Given the description of an element on the screen output the (x, y) to click on. 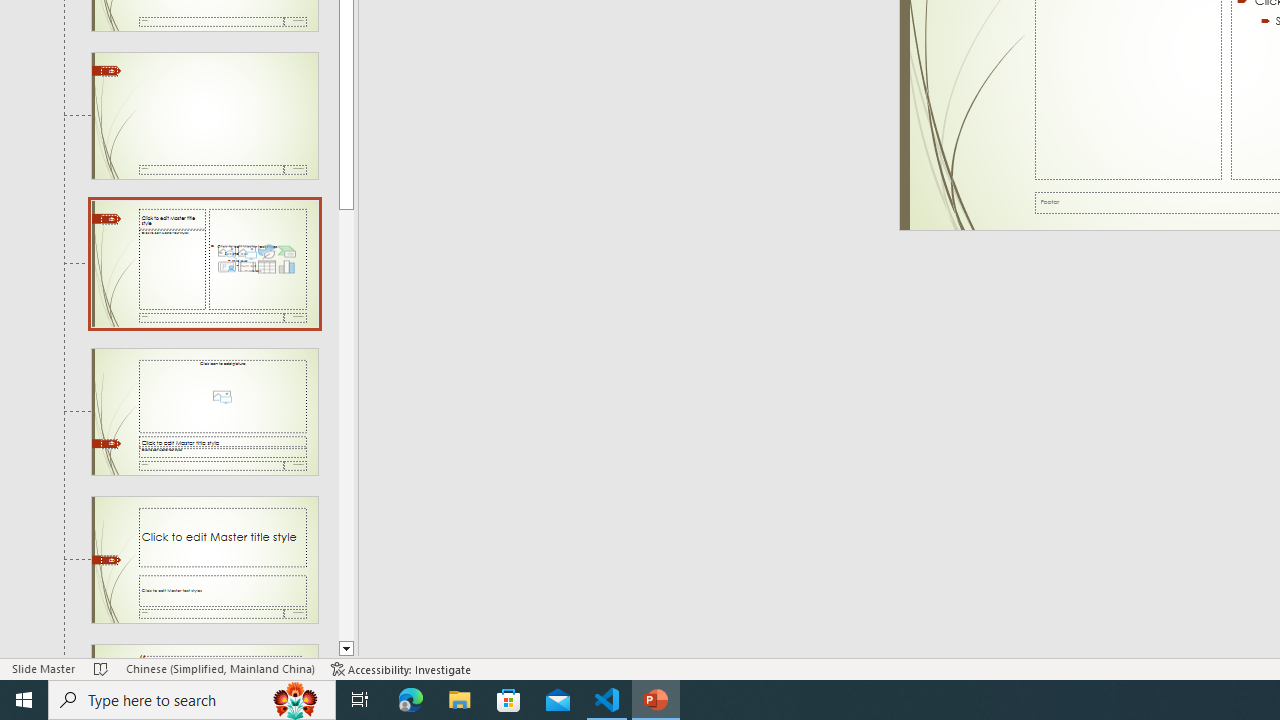
Slide Content with Caption Layout: used by no slides (204, 263)
Slide Blank Layout: used by no slides (204, 116)
Slide Quote with Caption Layout: used by no slides (204, 651)
Slide Picture with Caption Layout: used by no slides (204, 412)
Page down (345, 425)
Slide Title and Caption Layout: used by no slides (204, 559)
